Given the description of an element on the screen output the (x, y) to click on. 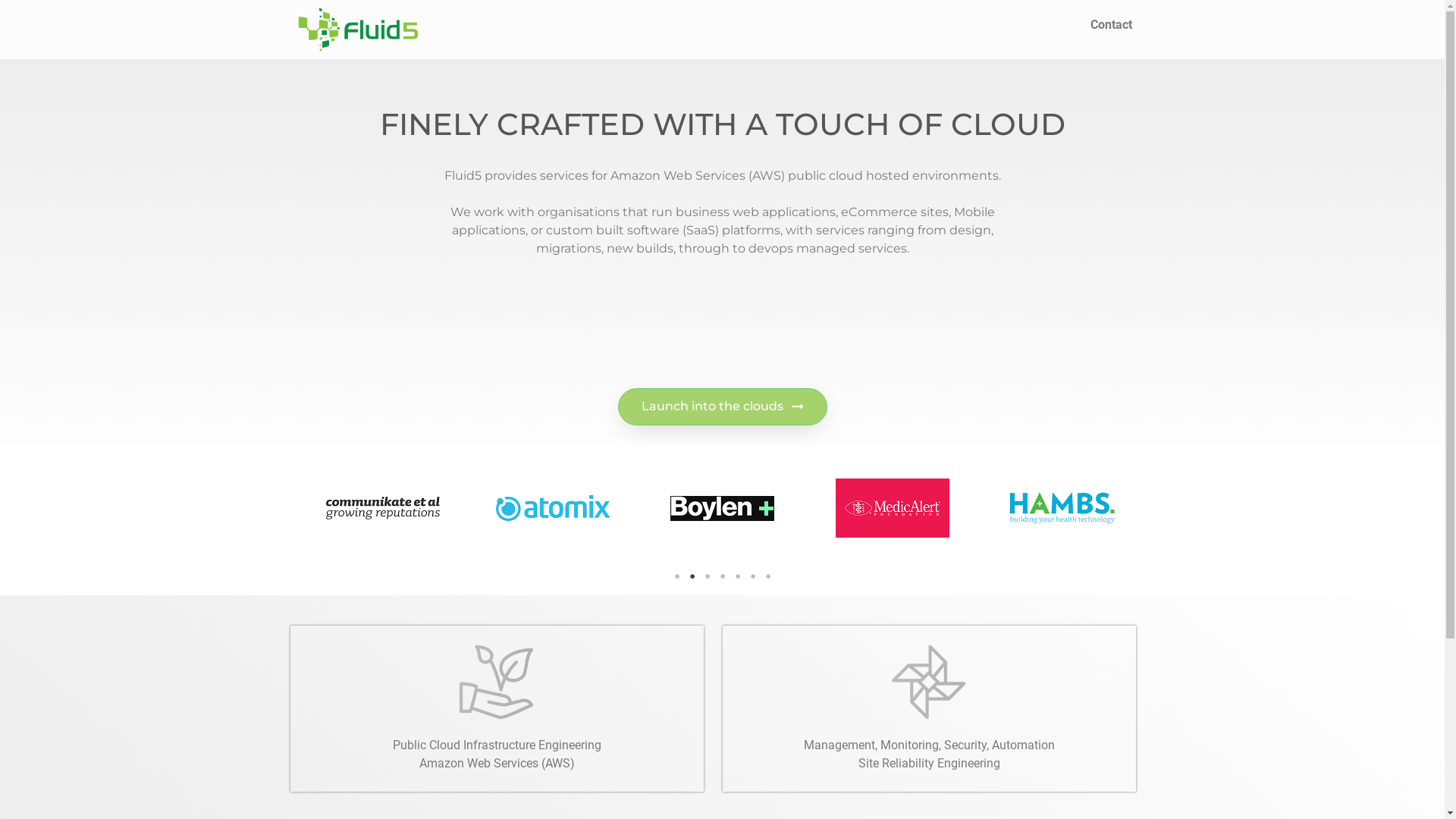
3 Element type: text (706, 575)
4 Element type: text (721, 575)
Contact Element type: text (1111, 24)
5 Element type: text (736, 575)
1 Element type: text (676, 575)
6 Element type: text (751, 575)
Launch into the clouds Element type: text (721, 406)
2 Element type: text (691, 575)
7 Element type: text (767, 575)
